Given the description of an element on the screen output the (x, y) to click on. 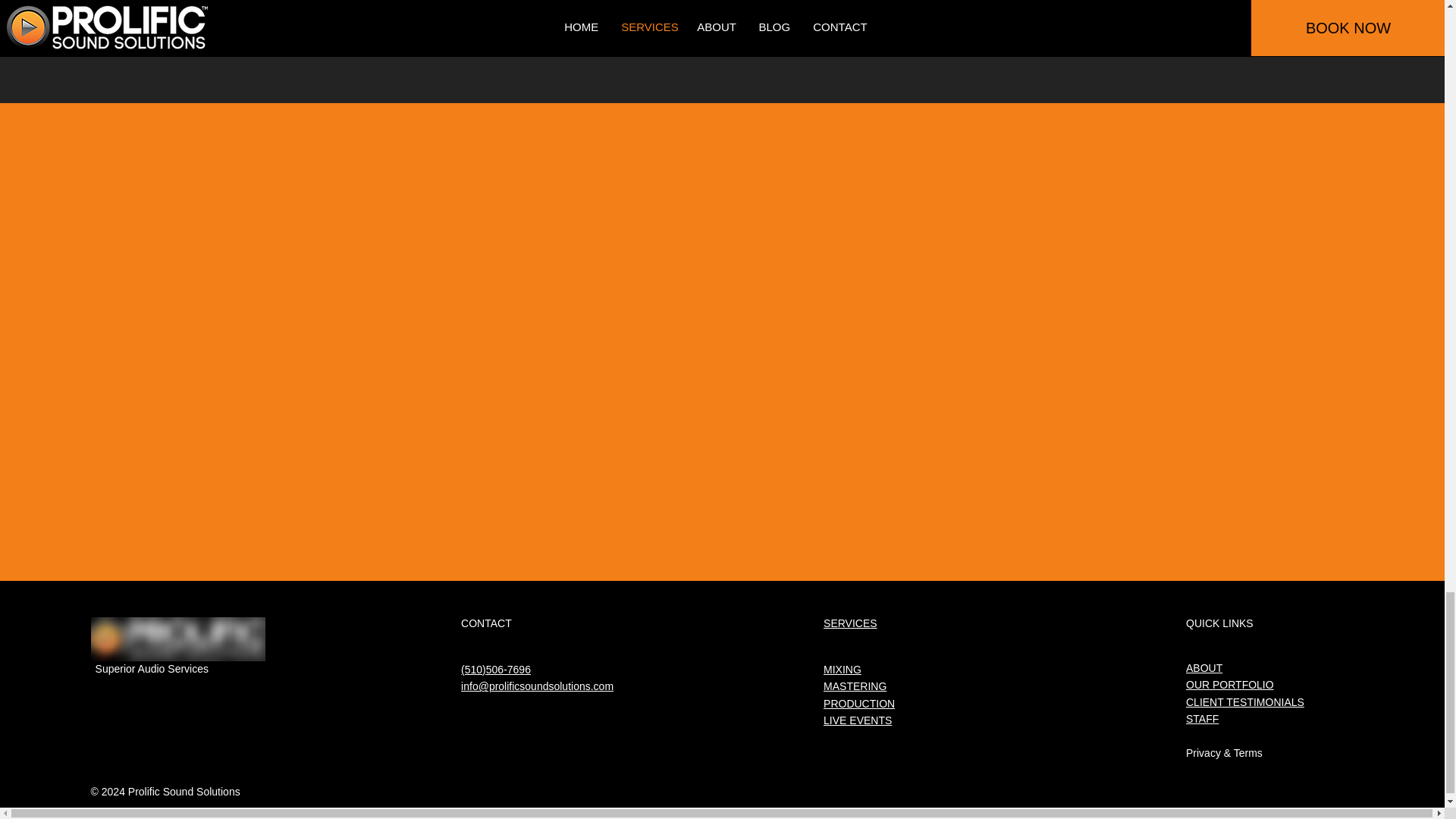
SERVICES (850, 623)
ABOUT (1204, 667)
OUR PORTFOLIO (1230, 684)
LIVE EVENTS (857, 720)
STAFF (1202, 718)
CLIENT TESTIMONIALS (1245, 702)
PRODUCTION (859, 703)
MIXING (842, 669)
MASTERING (855, 686)
